Given the description of an element on the screen output the (x, y) to click on. 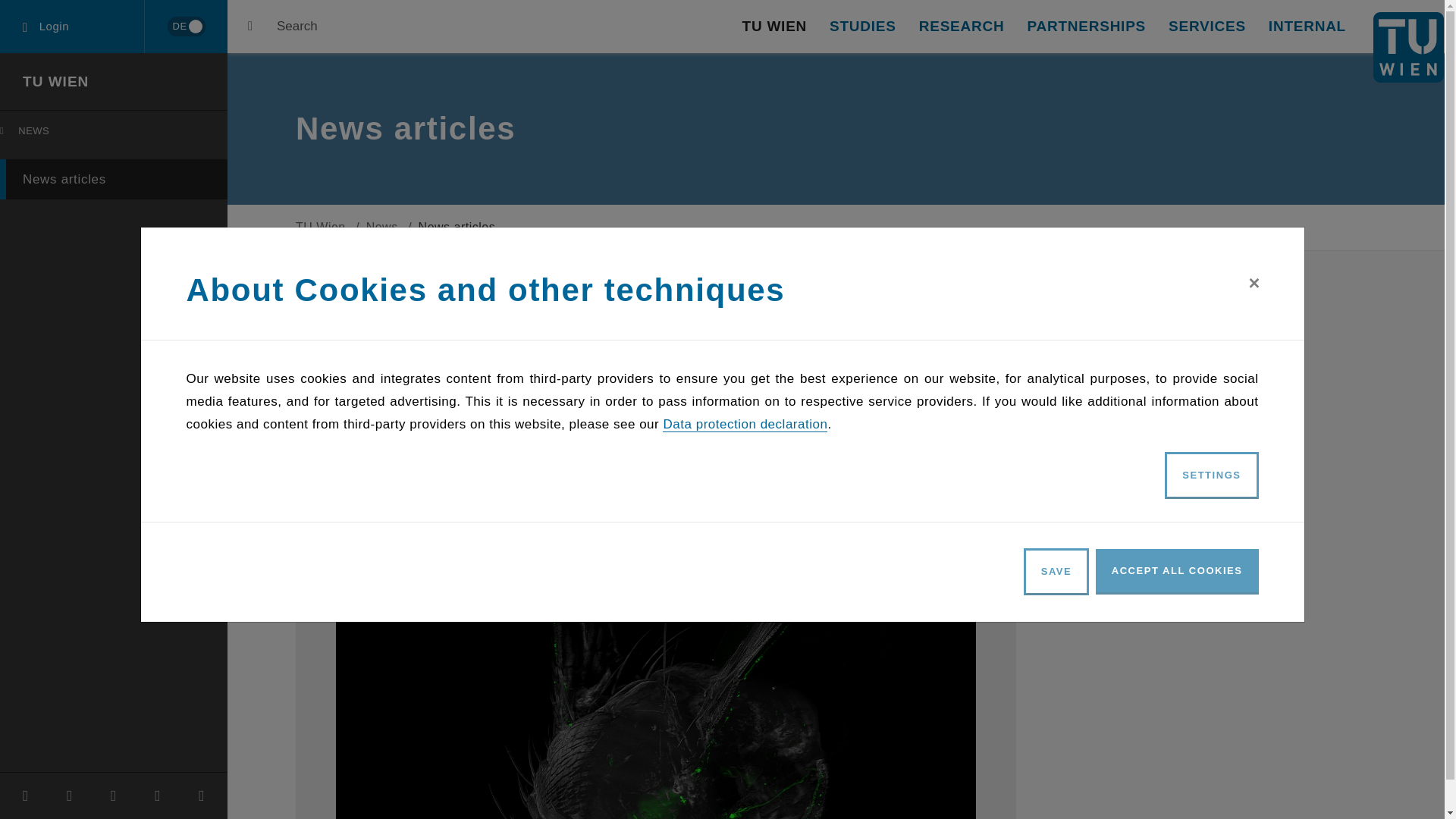
Wechseln zu Deutsch (186, 26)
STUDIES (862, 26)
TU Wien - homepage (1408, 47)
DE (185, 26)
Login (72, 26)
TU WIEN (117, 134)
News articles (774, 26)
TU WIEN (113, 178)
